Given the description of an element on the screen output the (x, y) to click on. 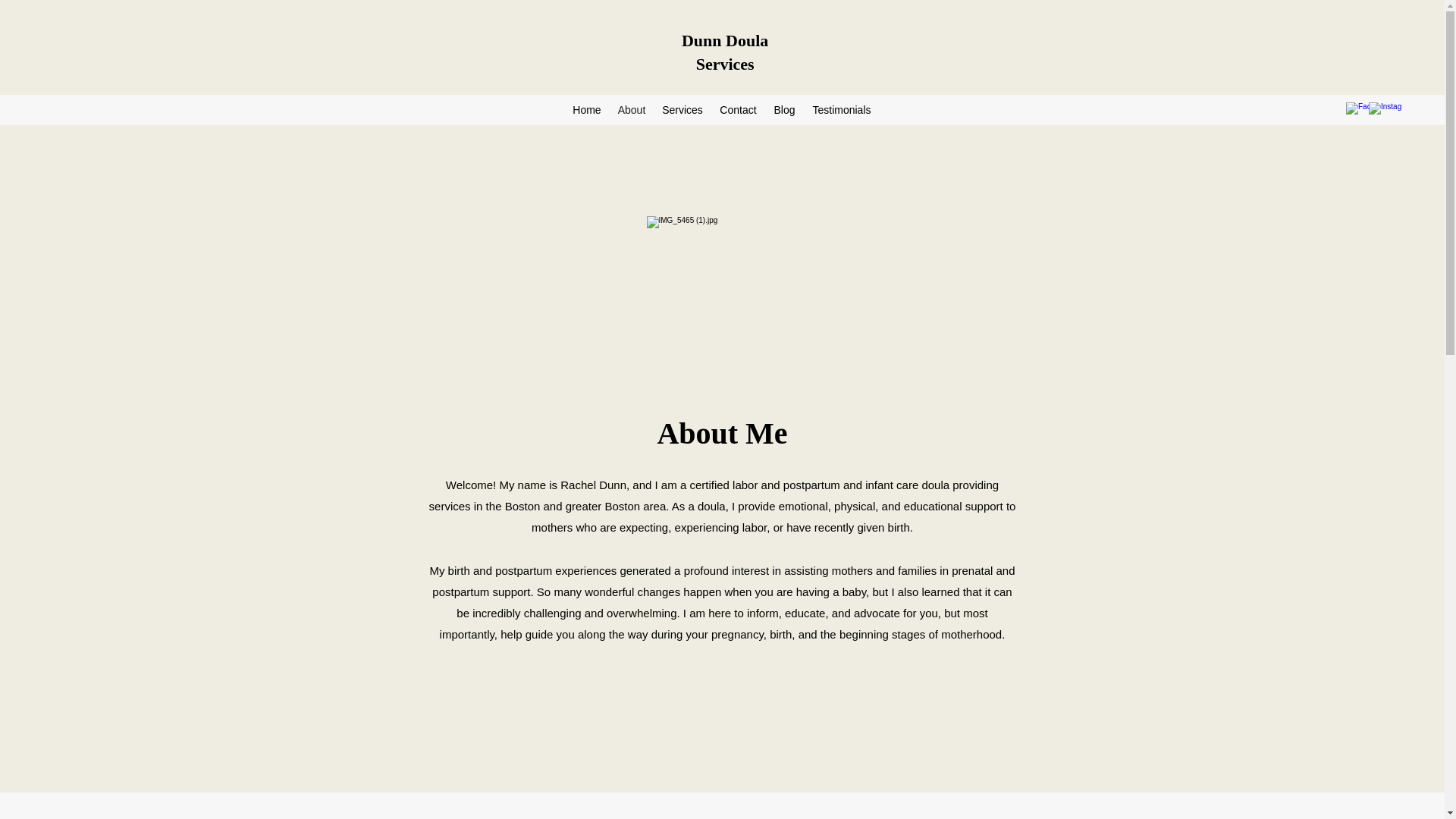
Dunn Doula Services (724, 52)
Services (681, 109)
Testimonials (841, 109)
About (630, 109)
Home (586, 109)
Contact (737, 109)
Blog (784, 109)
